Given the description of an element on the screen output the (x, y) to click on. 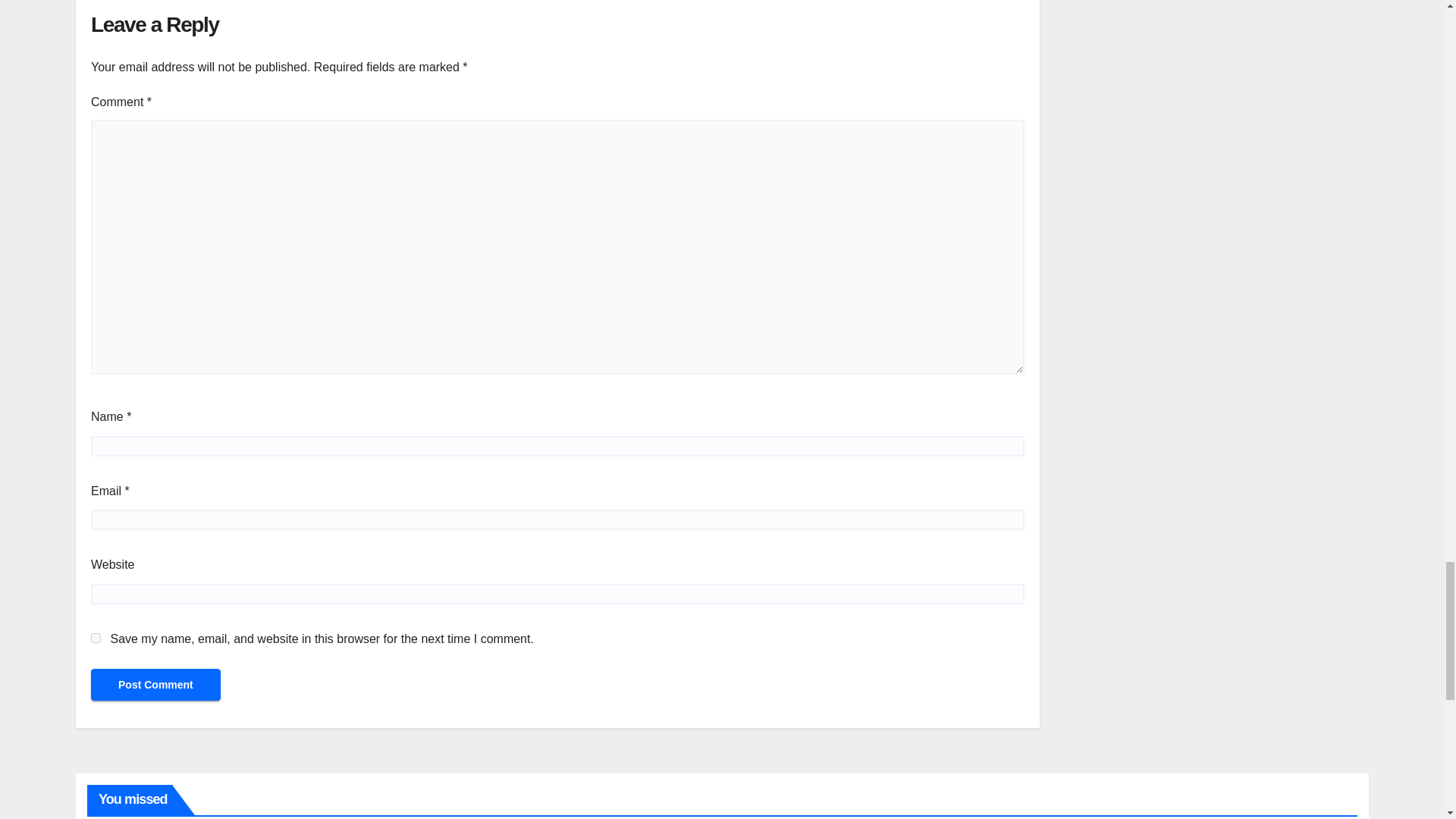
Post Comment (155, 685)
yes (95, 637)
